Given the description of an element on the screen output the (x, y) to click on. 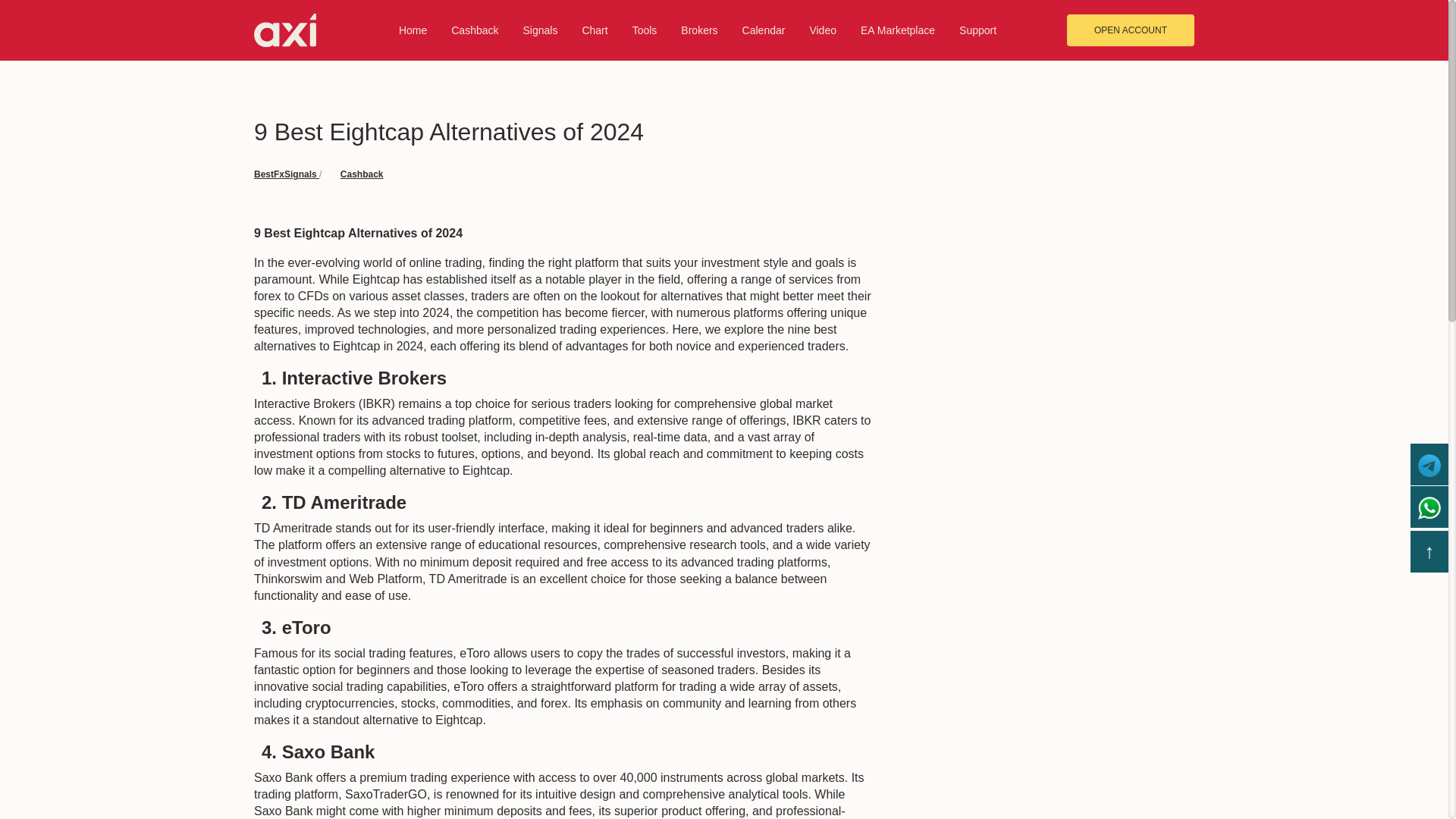
Tools (644, 29)
Video (822, 29)
Signals (539, 29)
Home (412, 29)
Support (977, 29)
Brokers (699, 29)
Chart (593, 29)
Calendar (764, 29)
BestFxSignals (285, 173)
Cashback (474, 29)
OPEN ACCOUNT (1130, 29)
Cashback (362, 173)
EA Marketplace (897, 29)
